Given the description of an element on the screen output the (x, y) to click on. 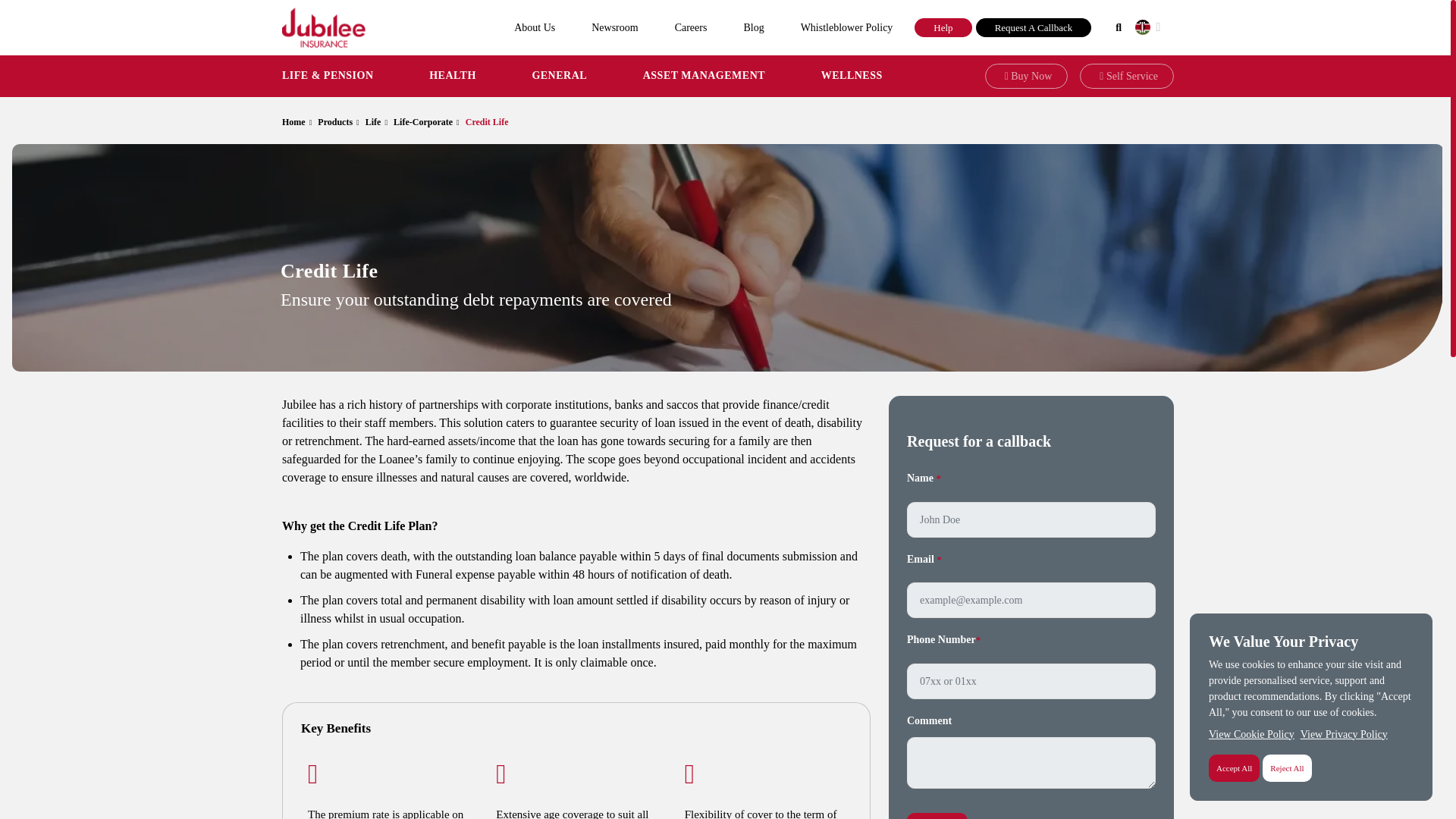
Blog (753, 27)
Credit Life (490, 121)
Whistleblower Policy (847, 27)
Home (299, 121)
Request A Callback (1033, 27)
Help (942, 27)
Careers (690, 27)
Products (341, 121)
Newsroom (614, 27)
About Us (534, 27)
